Given the description of an element on the screen output the (x, y) to click on. 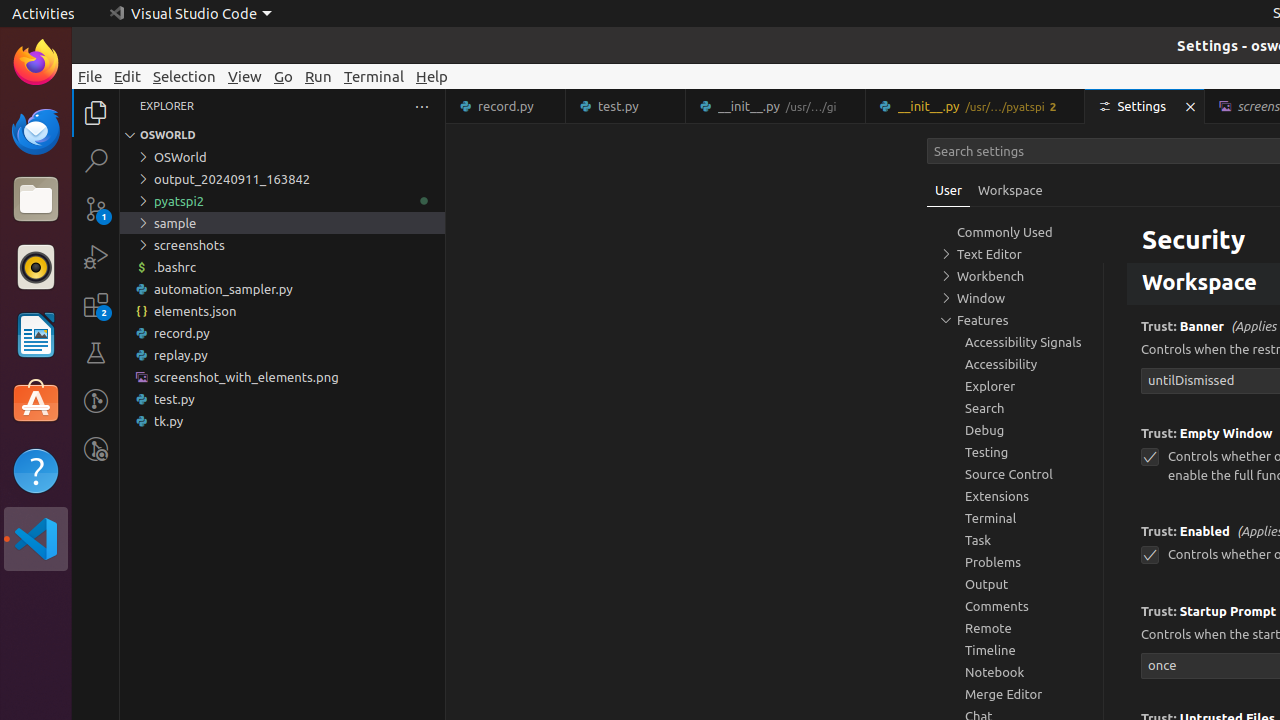
Output, group Element type: tree-item (1015, 584)
__init__.py Element type: page-tab (975, 106)
Text Editor, group Element type: tree-item (1015, 254)
Testing Element type: page-tab (96, 353)
